Given the description of an element on the screen output the (x, y) to click on. 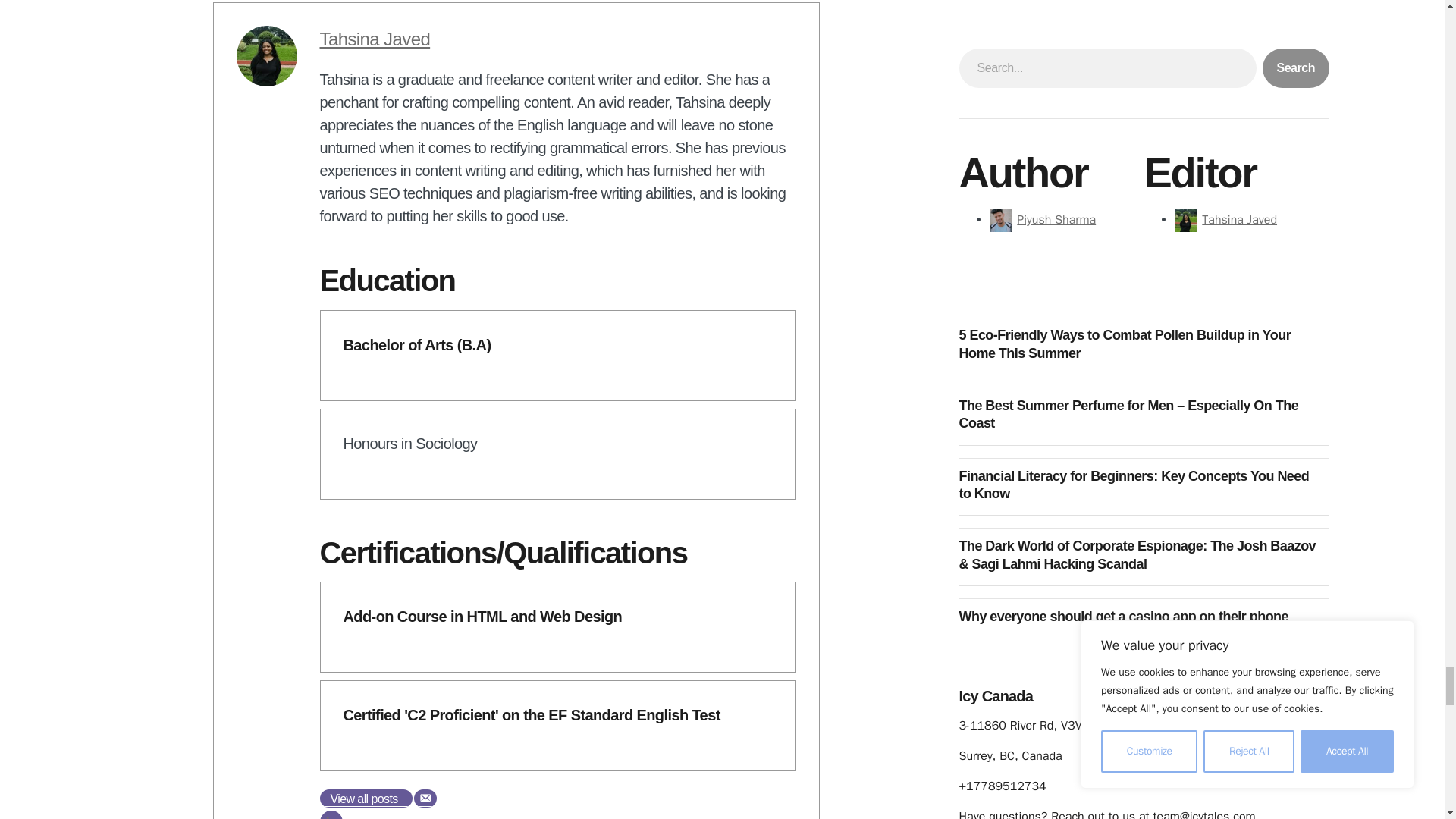
Tahsina Javed (375, 38)
View all posts (366, 797)
